Given the description of an element on the screen output the (x, y) to click on. 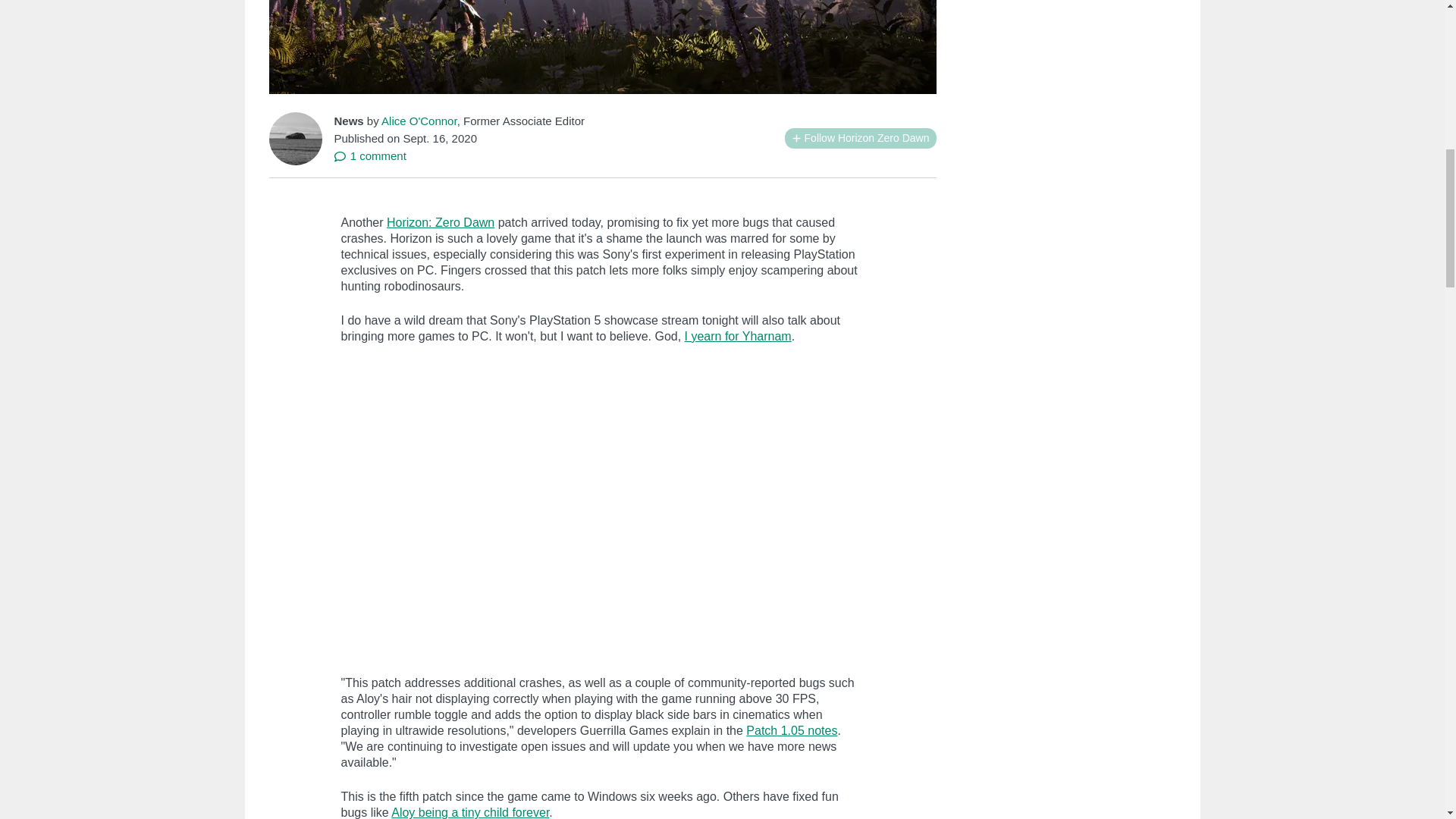
Patch 1.05 notes (791, 730)
Horizon: Zero Dawn (441, 222)
Aloy being a tiny child forever (469, 812)
Follow Horizon Zero Dawn (860, 137)
1 comment (369, 155)
Alice O'Connor (419, 120)
I yearn for Yharnam (738, 336)
